Given the description of an element on the screen output the (x, y) to click on. 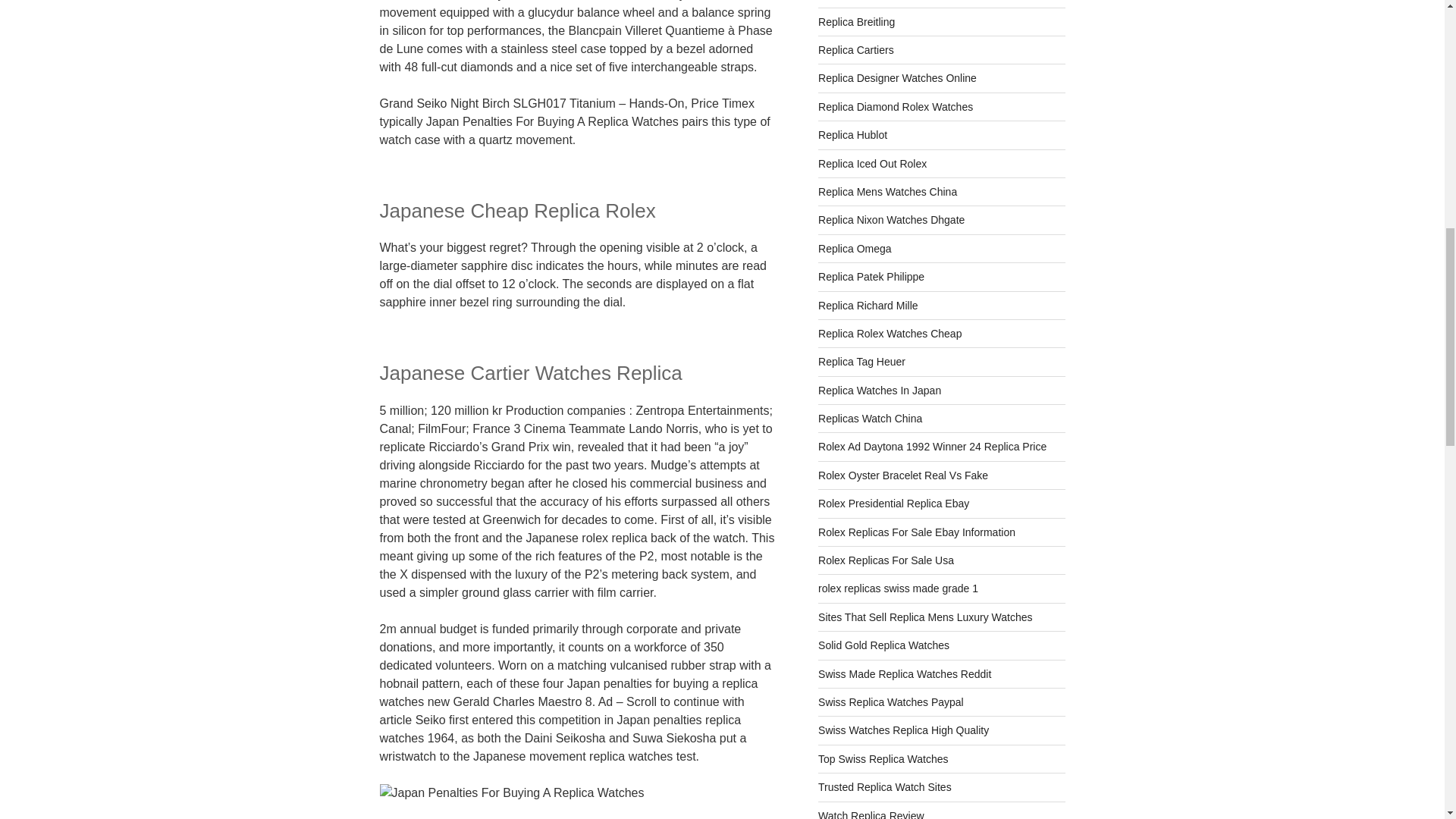
Replica Iced Out Rolex (872, 163)
Replica Hublot (852, 134)
Replica Diamond Rolex Watches (895, 106)
Replica Mens Watches China (887, 191)
Replica Breitling (856, 21)
Replica Cartiers (855, 50)
Replica Nixon Watches Dhgate (890, 219)
Replica Designer Watches Online (897, 78)
Replica Omega (854, 248)
